Given the description of an element on the screen output the (x, y) to click on. 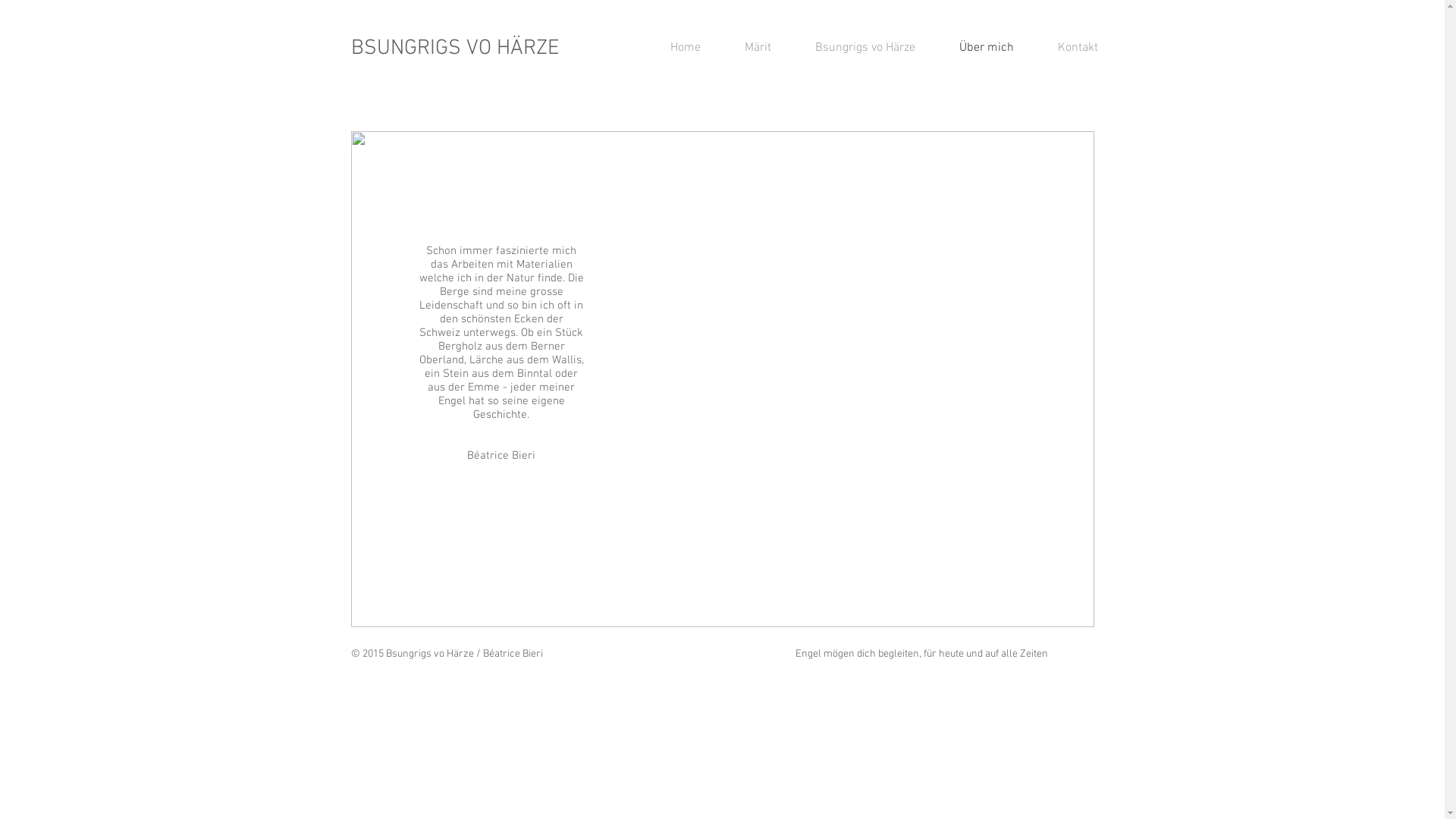
Kontakt Element type: text (1067, 48)
Home Element type: text (674, 48)
